Given the description of an element on the screen output the (x, y) to click on. 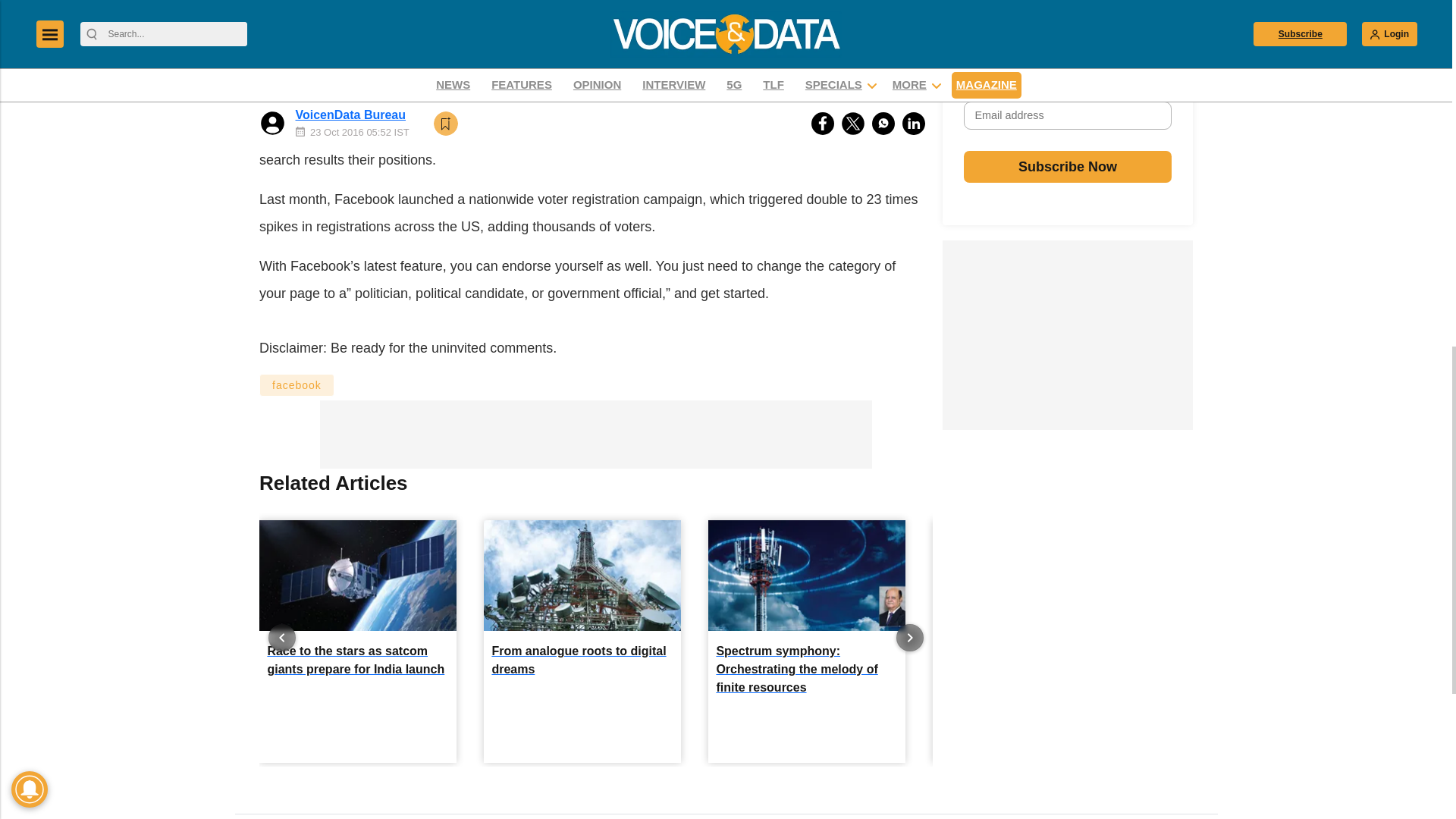
3rd party ad content (591, 77)
